Given the description of an element on the screen output the (x, y) to click on. 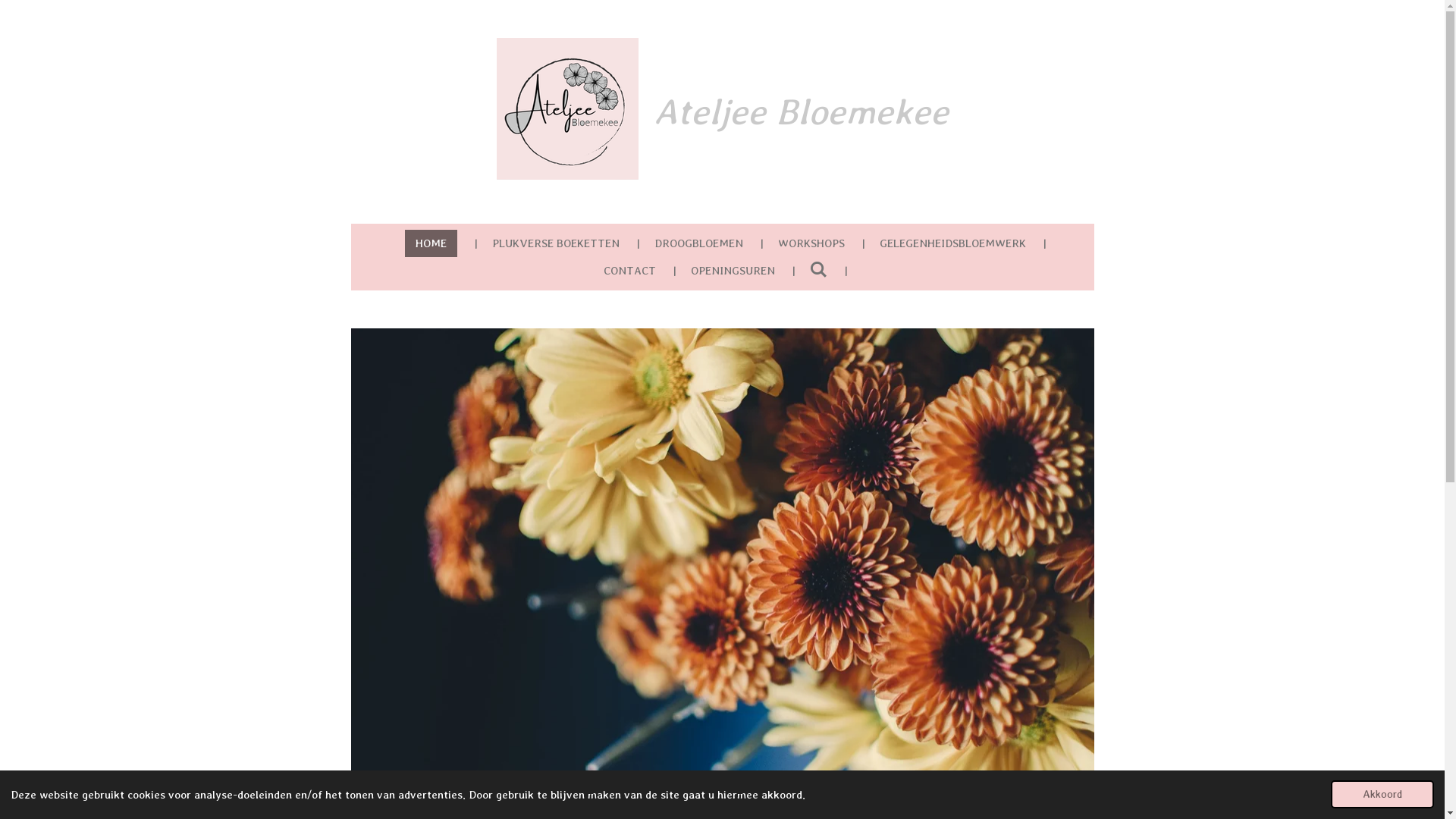
DROOGBLOEMEN Element type: text (698, 243)
WORKSHOPS Element type: text (811, 243)
HOME Element type: text (430, 243)
Akkoord Element type: text (1382, 794)
CONTACT Element type: text (629, 269)
Ateljee Bloemekee Element type: hover (566, 108)
GELEGENHEIDSBLOEMWERK Element type: text (952, 243)
PLUKVERSE BOEKETTEN Element type: text (555, 243)
Zoeken Element type: hover (818, 269)
OPENINGSUREN Element type: text (732, 269)
